Given the description of an element on the screen output the (x, y) to click on. 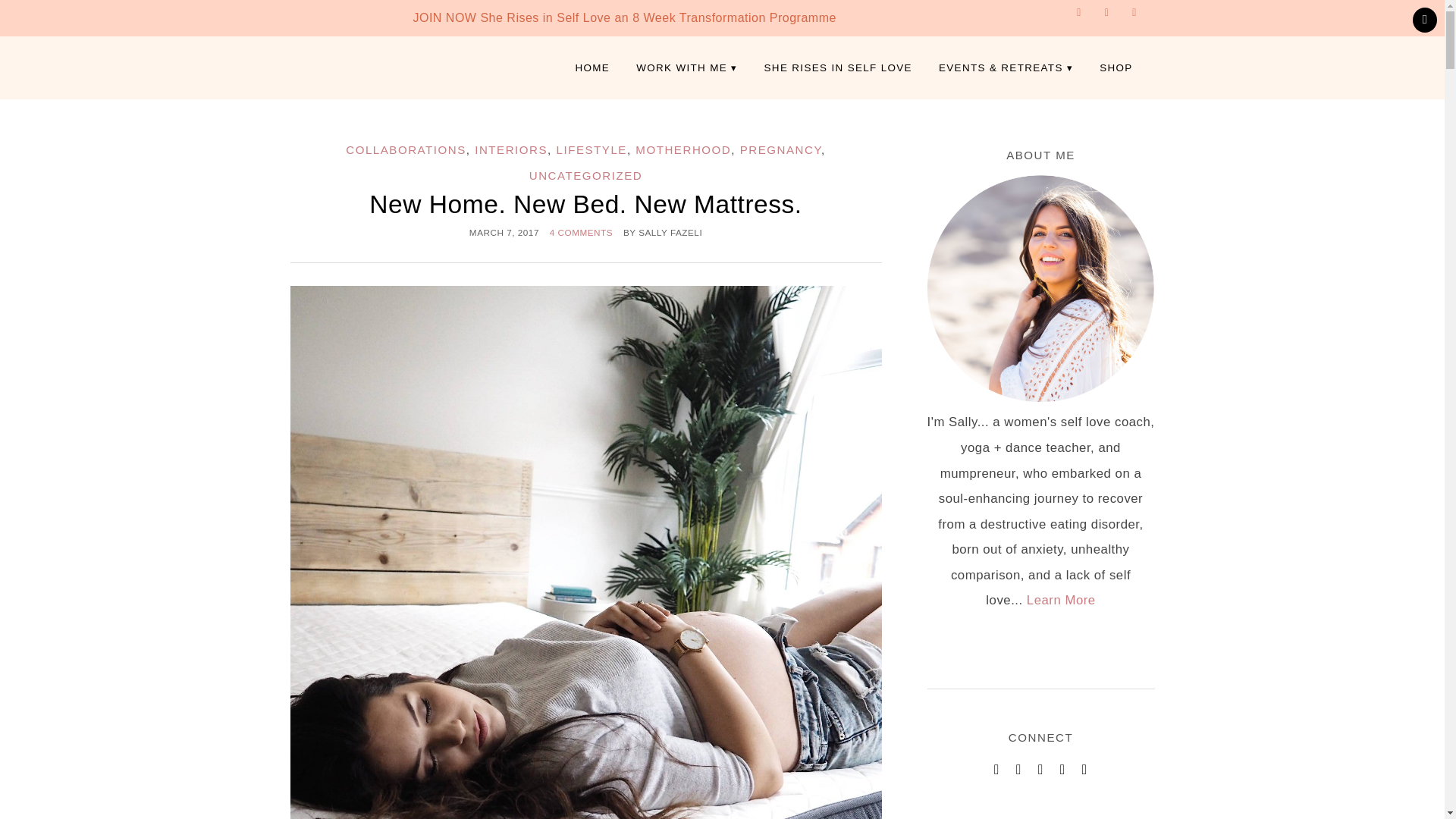
INTERIORS (510, 149)
UNCATEGORIZED (586, 174)
New Home. New Bed. New Mattress. (585, 204)
LIFESTYLE (591, 149)
MOTHERHOOD (682, 149)
HOME (592, 67)
4 COMMENTS (581, 232)
COLLABORATIONS (405, 149)
WORK WITH ME (686, 67)
New Home. New Bed. New Mattress. (585, 204)
PREGNANCY (780, 149)
View your shopping cart (1424, 19)
SHE RISES IN SELF LOVE (837, 67)
SHOP (1114, 67)
